Given the description of an element on the screen output the (x, y) to click on. 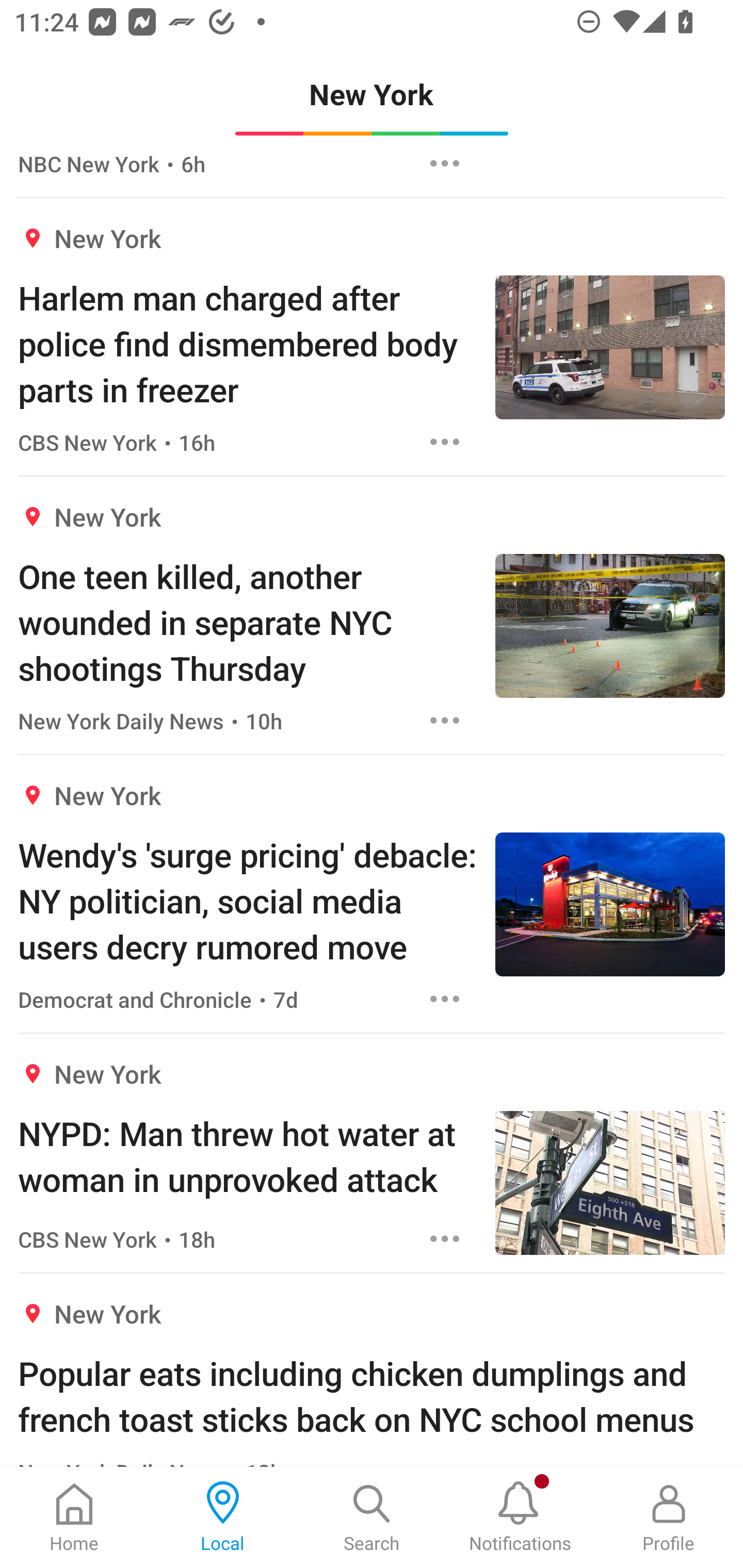
NBC New York ・ 6h Options (371, 170)
Options (444, 164)
Options (444, 442)
Options (444, 720)
Options (444, 998)
Options (444, 1238)
Home (74, 1517)
Search (371, 1517)
Notifications, New notification Notifications (519, 1517)
Profile (668, 1517)
